Given the description of an element on the screen output the (x, y) to click on. 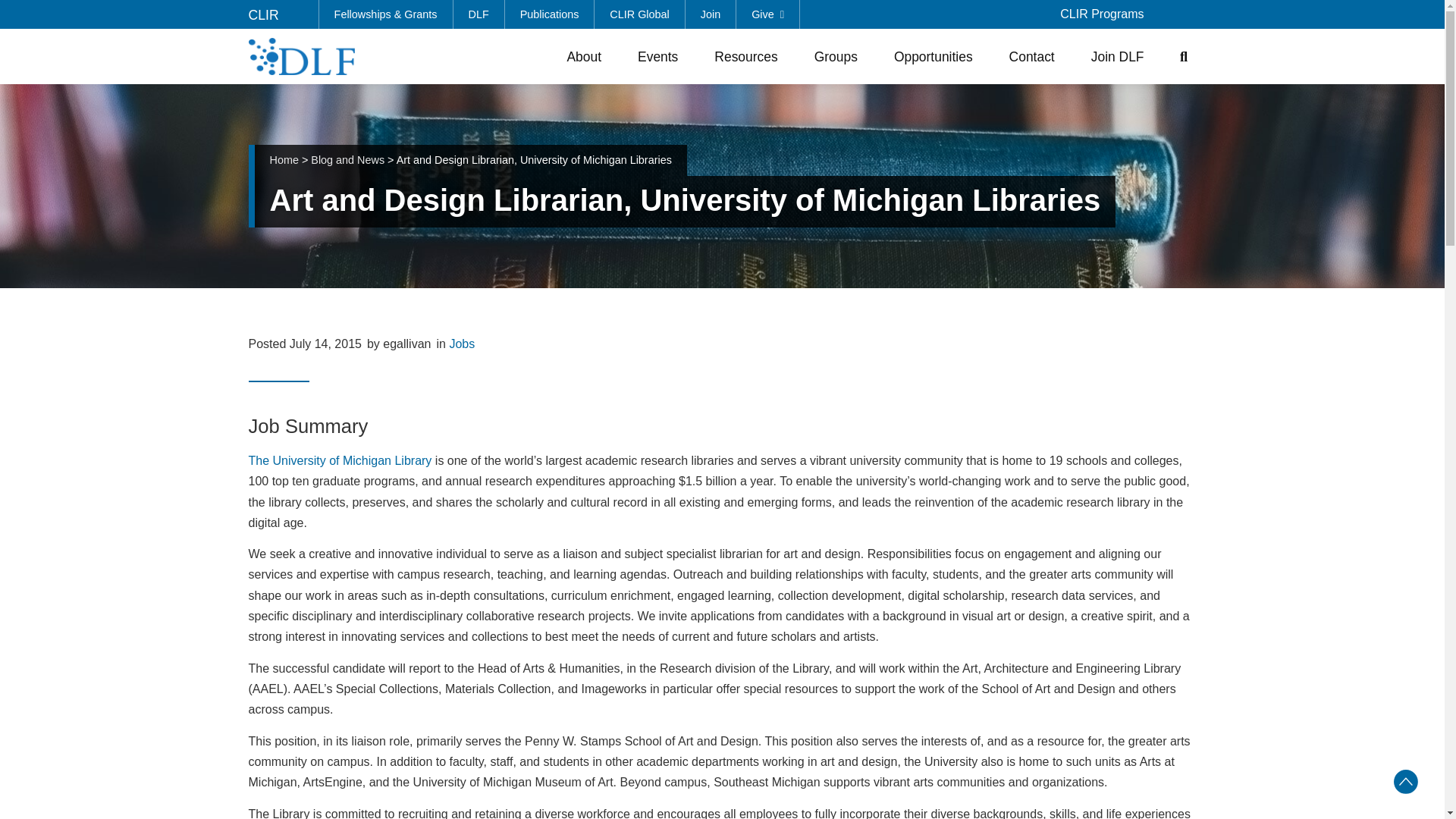
CLIR Programs (1101, 13)
Publications (550, 14)
About (583, 56)
CLIR Global (639, 14)
Events (657, 56)
DLF (478, 14)
CLIR (263, 15)
Resources (745, 56)
Give (767, 14)
Join (710, 14)
